Given the description of an element on the screen output the (x, y) to click on. 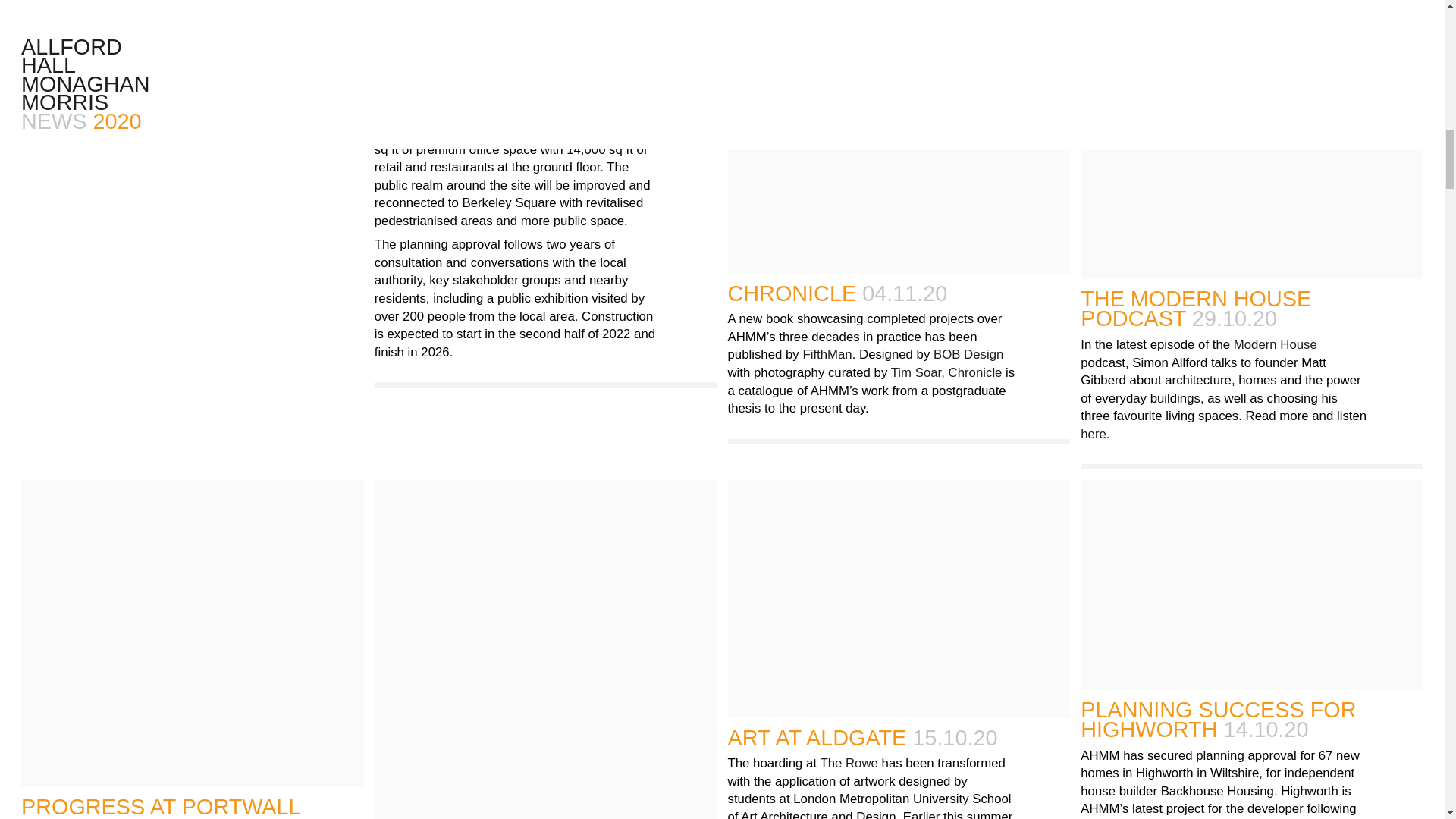
WELL (488, 12)
BREEAM (569, 2)
